Given the description of an element on the screen output the (x, y) to click on. 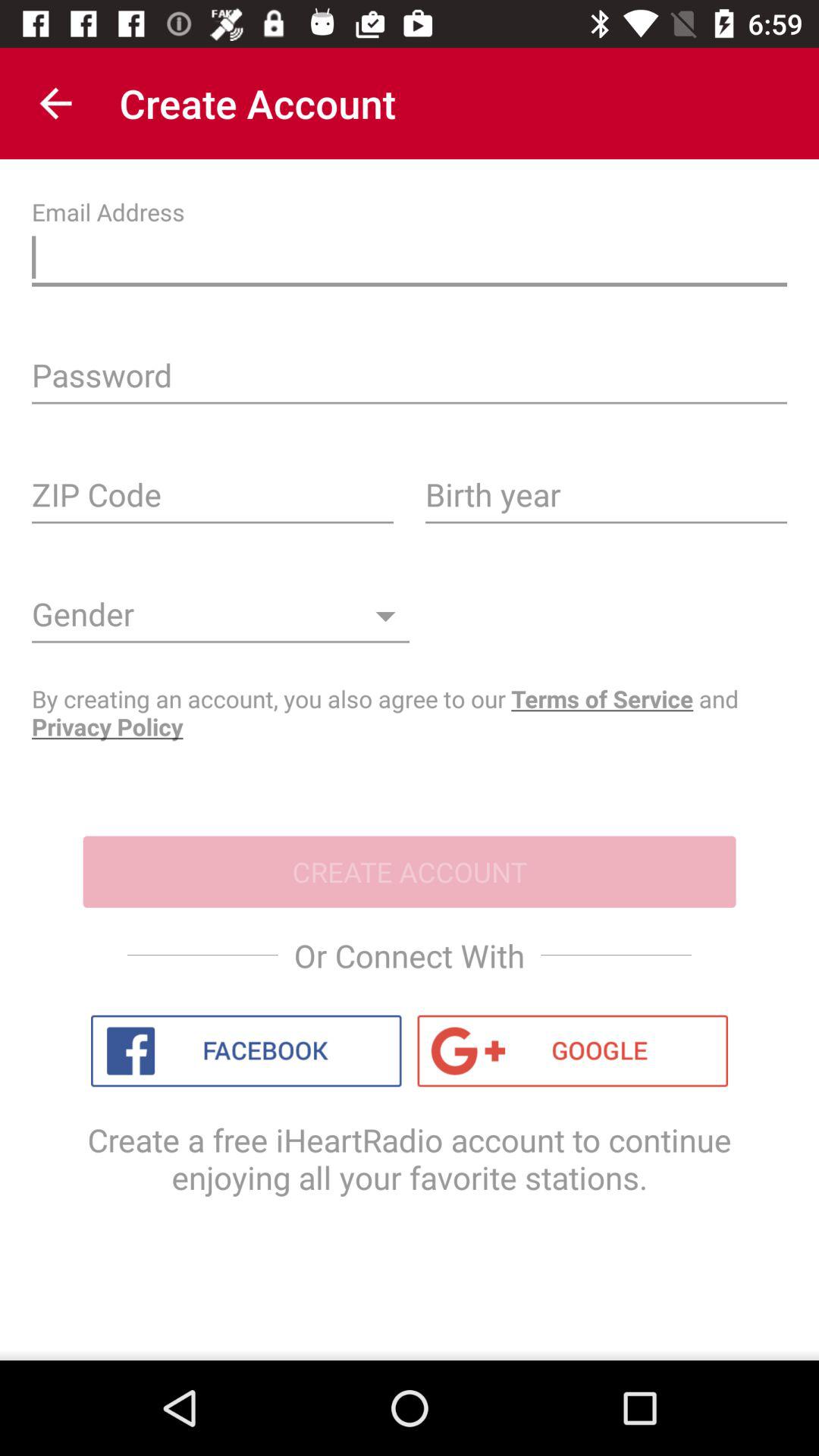
click icon at the bottom right corner (572, 1050)
